Given the description of an element on the screen output the (x, y) to click on. 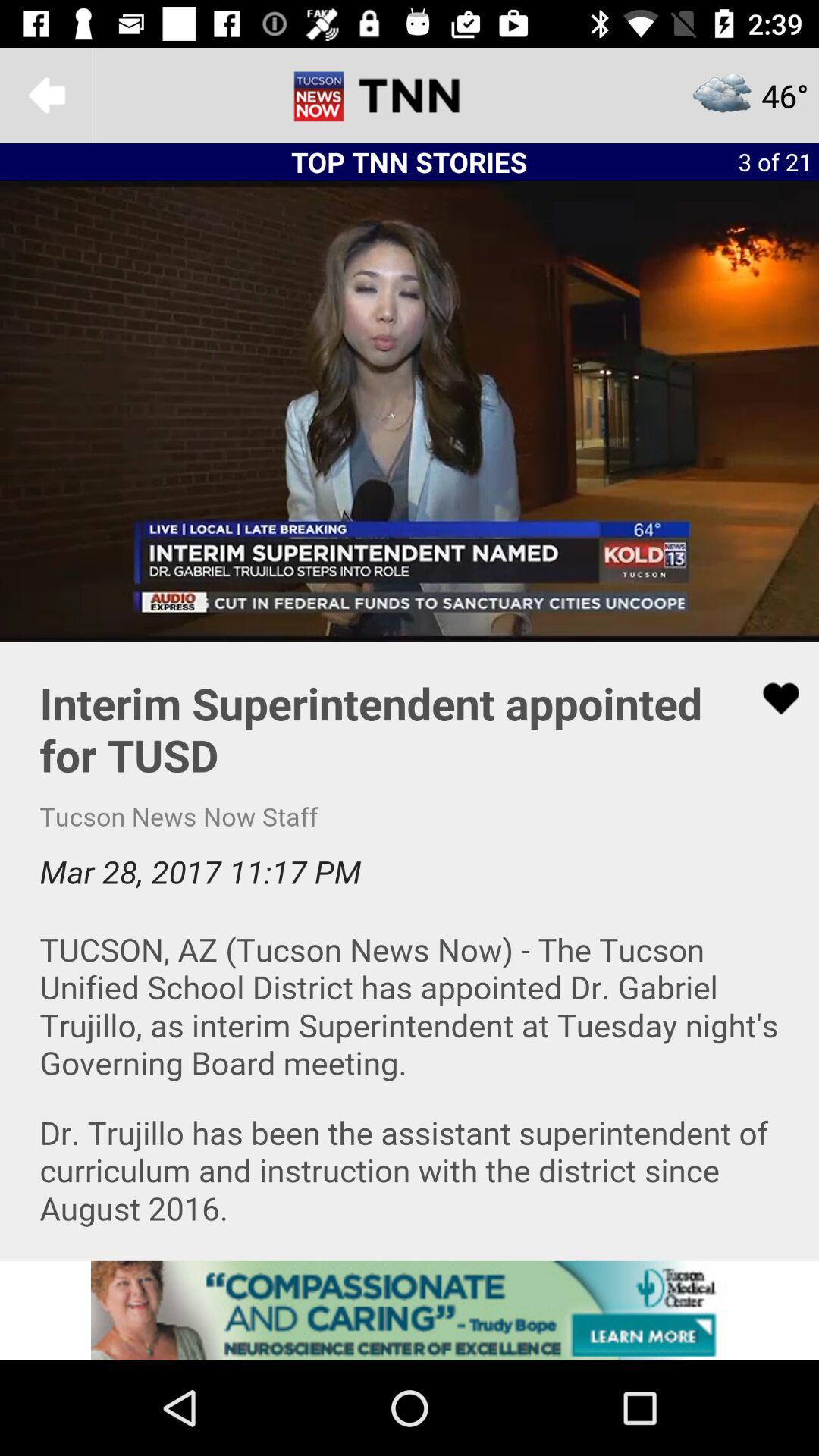
go to compassionate and caring app (409, 1310)
